Given the description of an element on the screen output the (x, y) to click on. 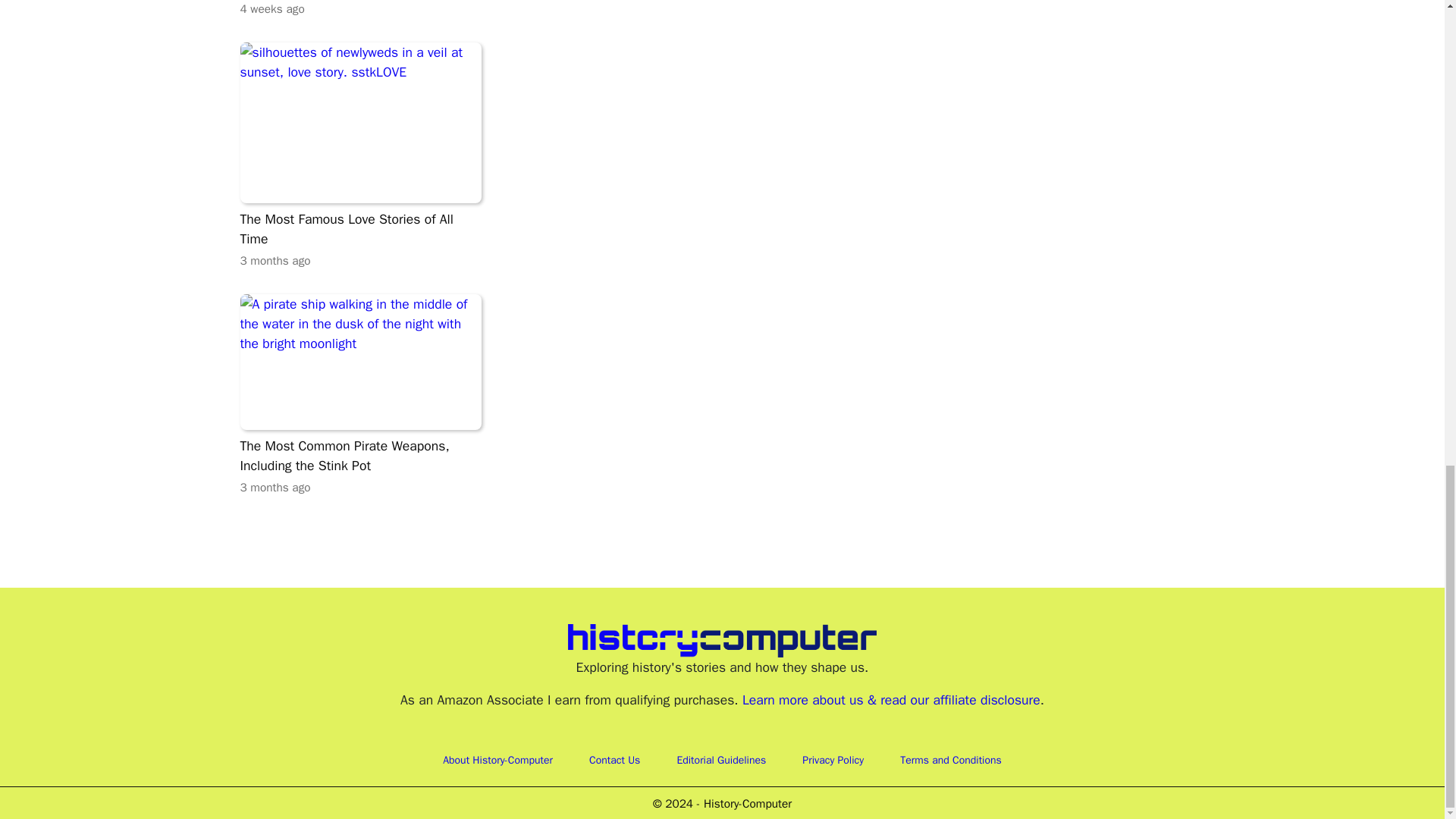
About History-Computer (497, 759)
Privacy Policy (833, 759)
Terms and Conditions (360, 156)
Editorial Guidelines (950, 759)
Contact Us (720, 759)
